Given the description of an element on the screen output the (x, y) to click on. 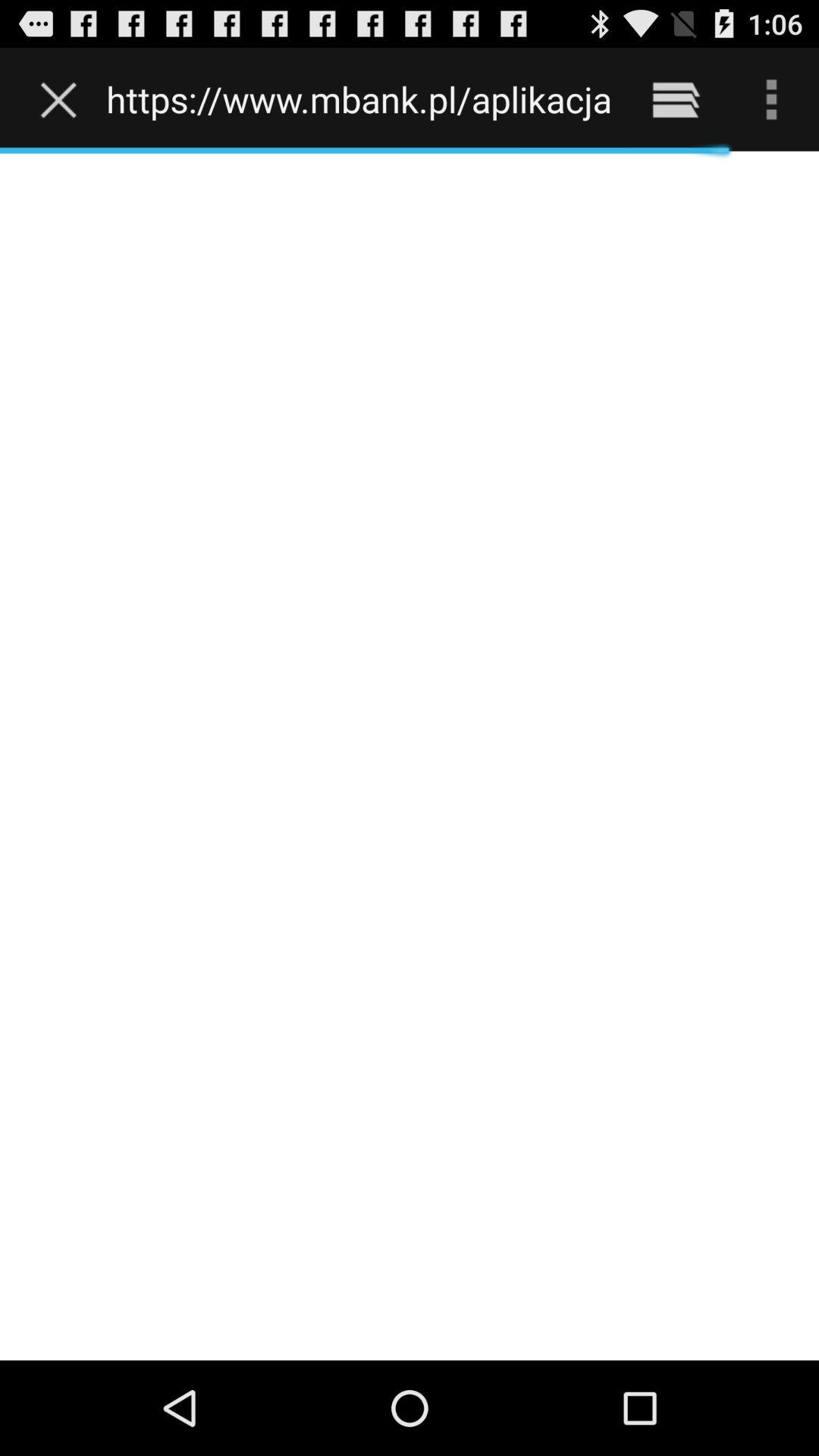
turn on icon at the top left corner (62, 99)
